Given the description of an element on the screen output the (x, y) to click on. 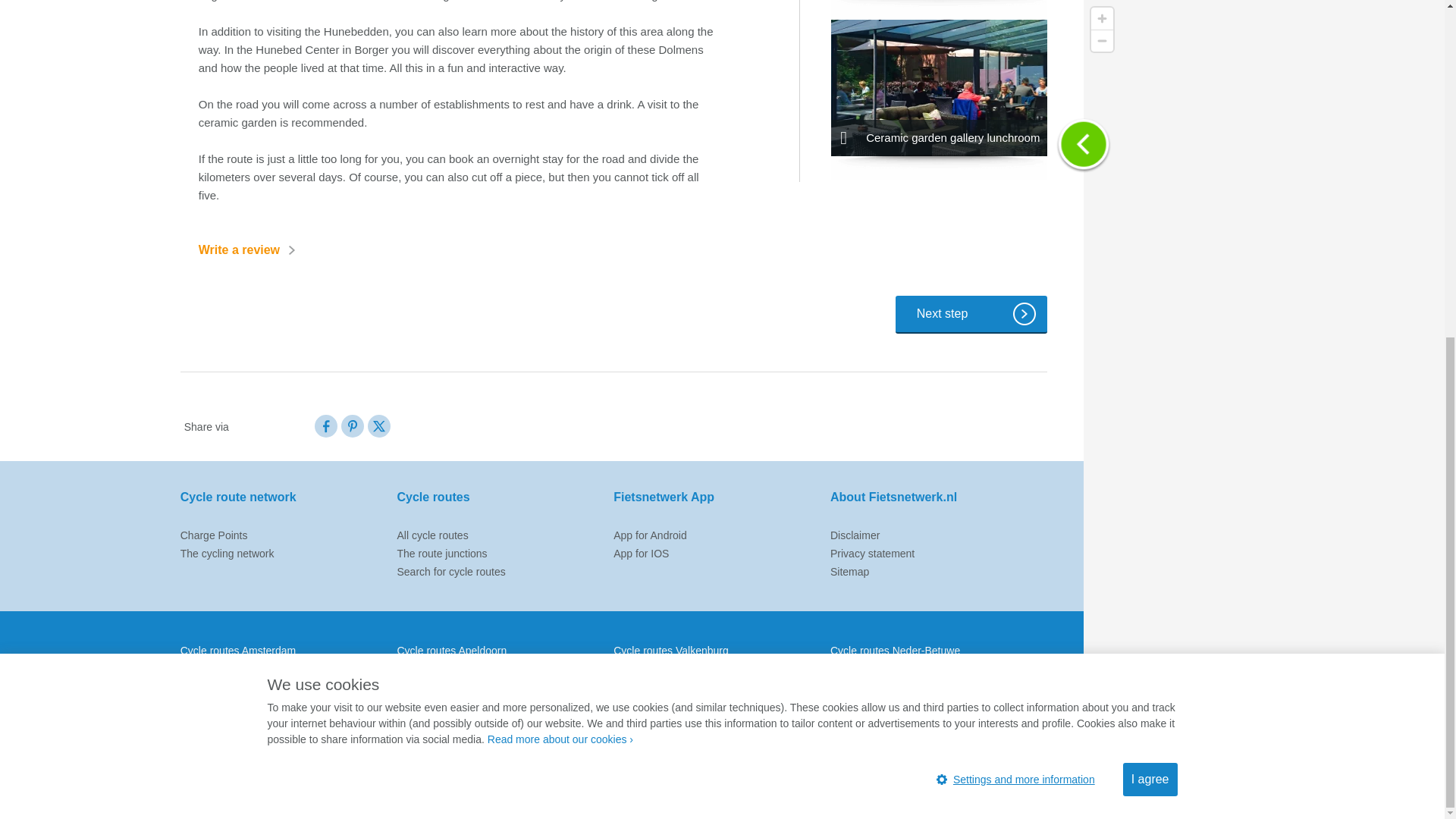
Search for cycle routes (451, 571)
Facebook (325, 425)
All cycle routes (432, 535)
Instagram (1008, 790)
The route junctions (442, 553)
YouTube (980, 790)
Facebook (325, 433)
Pinterest (352, 425)
RouteStack (1196, 235)
OpenStreetMap contributors (1358, 235)
Charge Points (213, 535)
Pinterest (352, 433)
Pinterest (1035, 790)
X (379, 433)
X (379, 425)
